Given the description of an element on the screen output the (x, y) to click on. 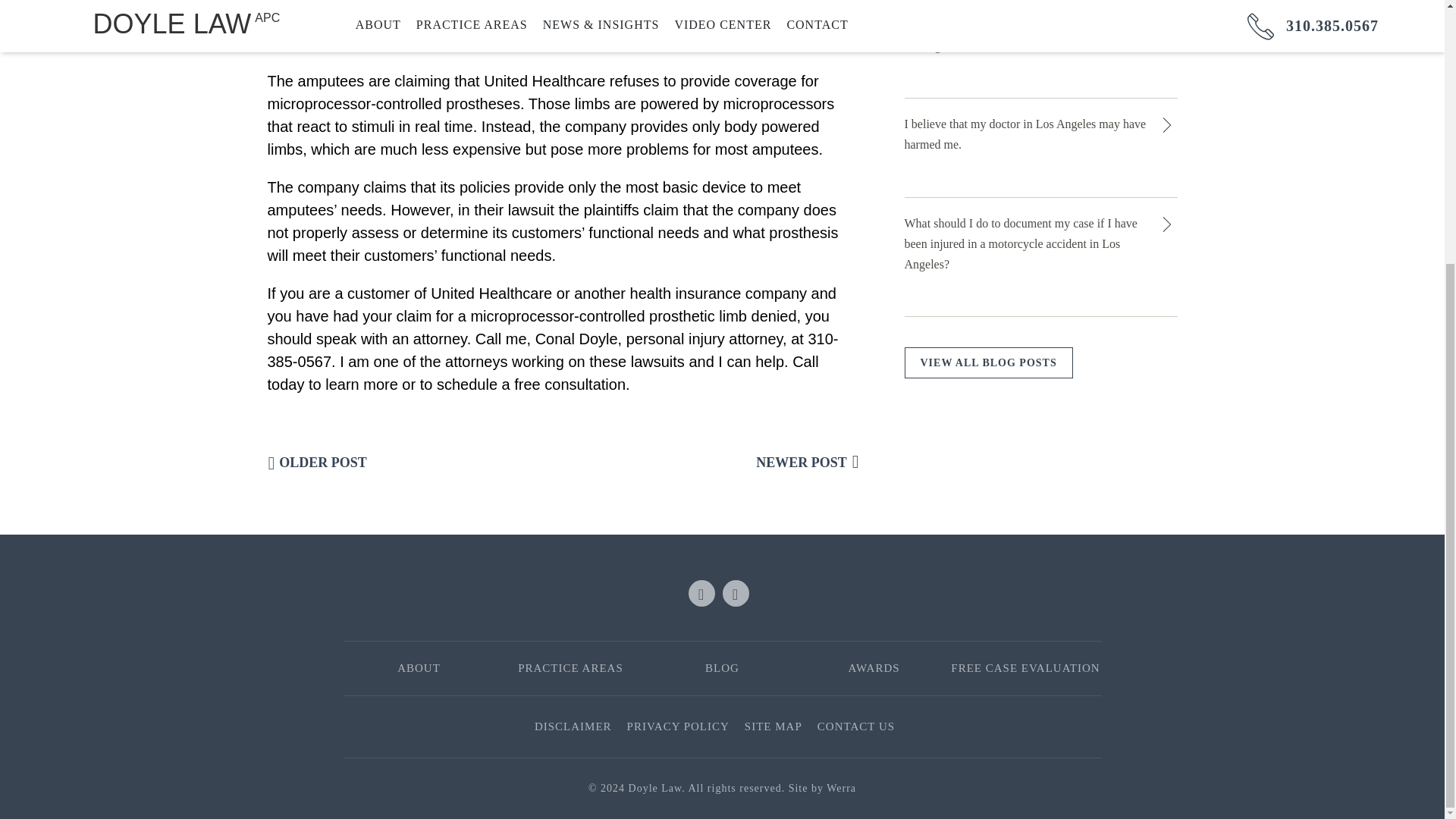
NEWER POST (807, 461)
OLDER POST (316, 461)
